Given the description of an element on the screen output the (x, y) to click on. 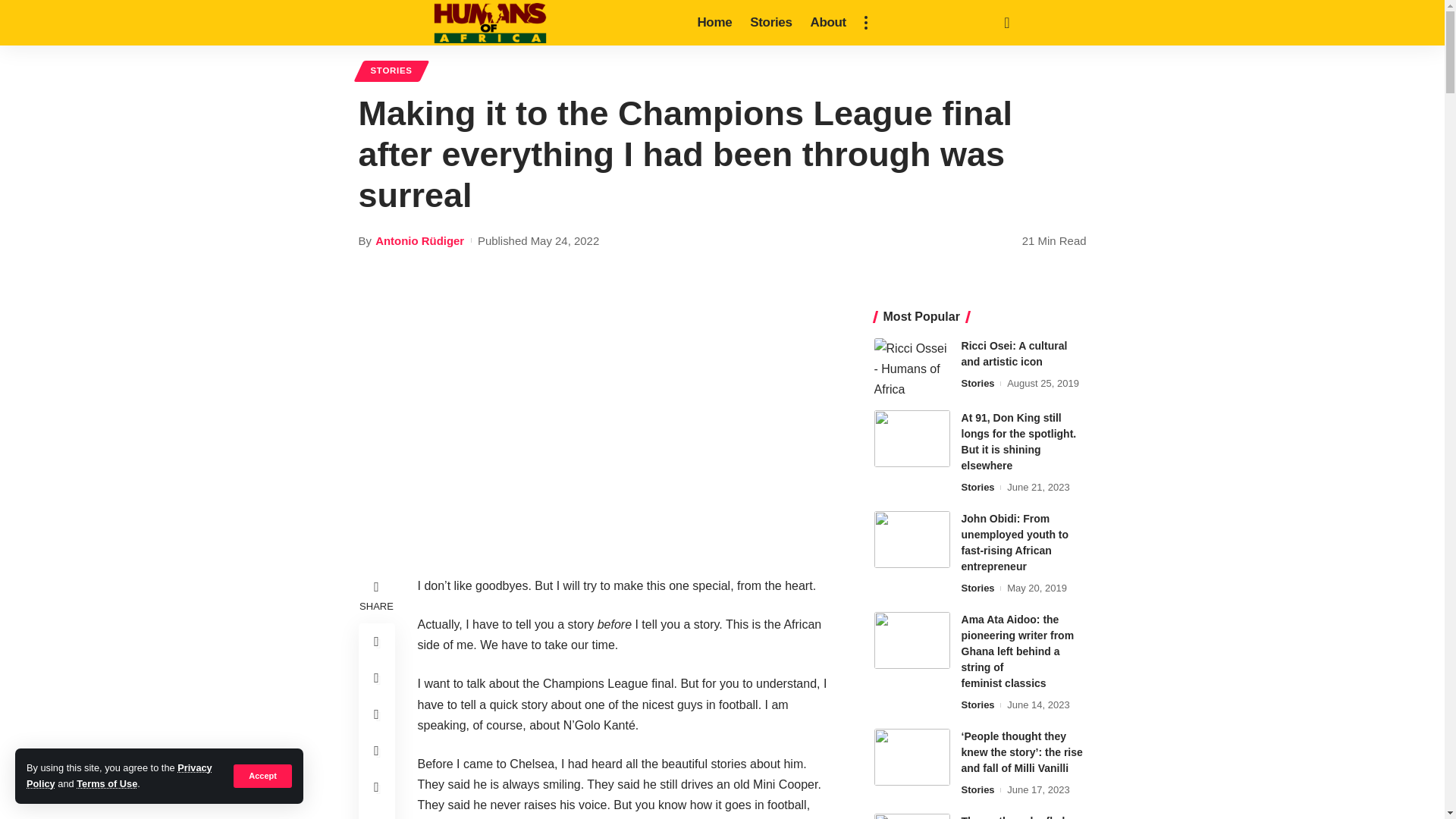
Home (714, 22)
The mother who fled Shakahola forest to save her children (912, 816)
Stories (770, 22)
Ricci Osei: A cultural and artistic icon (912, 366)
Terms of Use (106, 783)
Humans of Africa (489, 22)
Privacy Policy (119, 775)
Accept (262, 775)
About (829, 22)
